Given the description of an element on the screen output the (x, y) to click on. 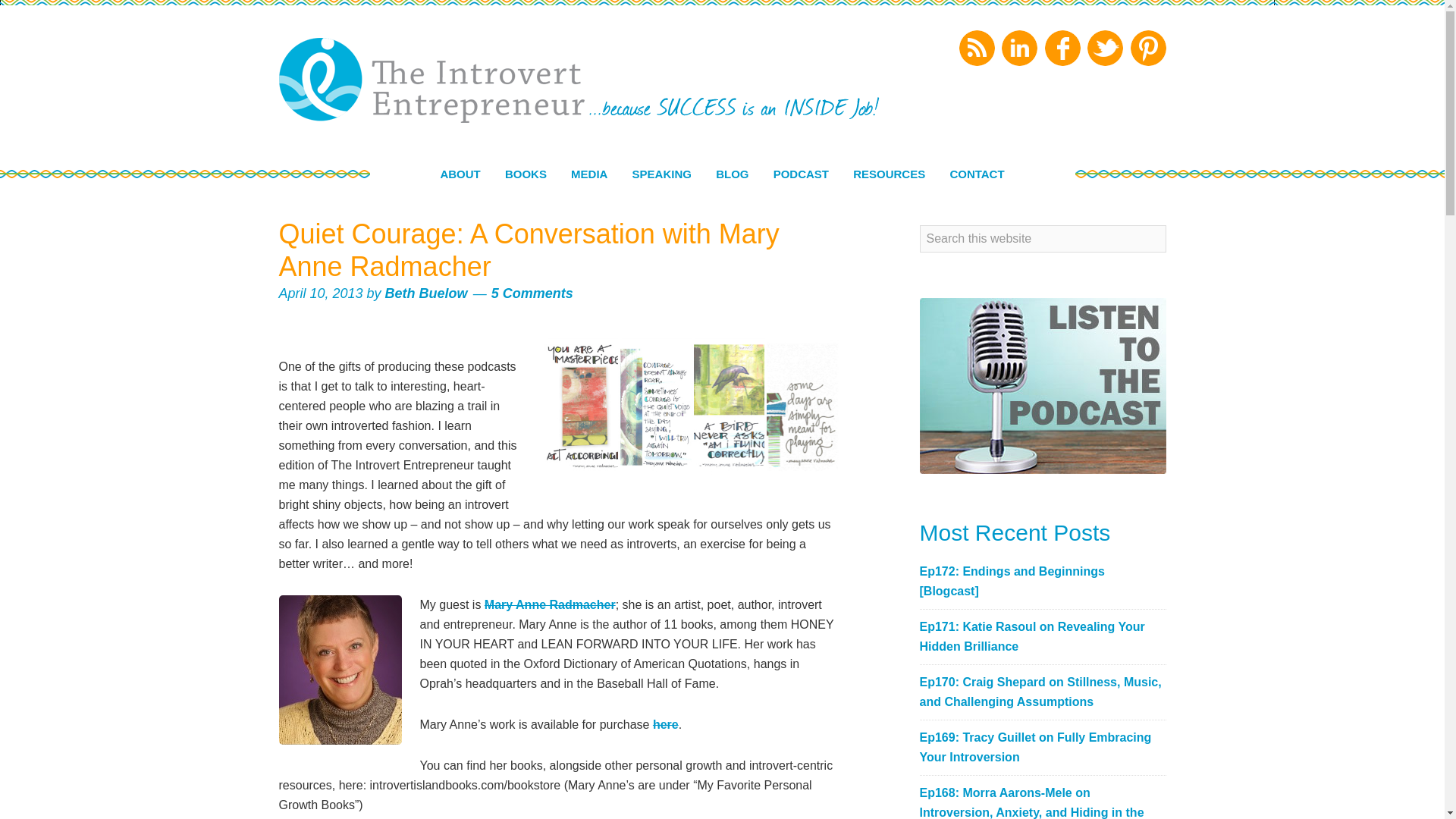
5 Comments (532, 293)
here (665, 724)
CONTACT (976, 173)
Mary Anne Radmacher (549, 604)
BOOKS (526, 173)
MEDIA (588, 173)
SPEAKING (661, 173)
PODCAST (801, 173)
